Given the description of an element on the screen output the (x, y) to click on. 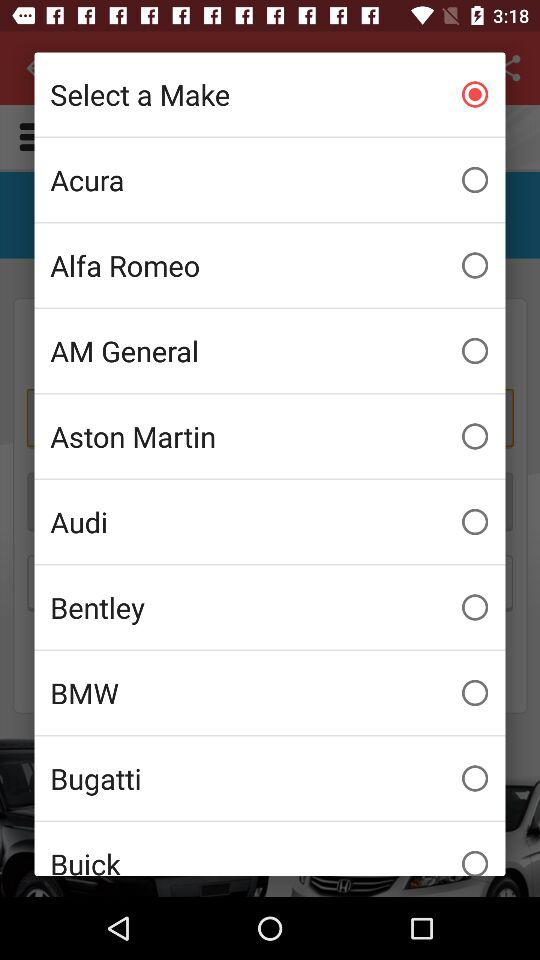
turn on item below bmw item (269, 778)
